Given the description of an element on the screen output the (x, y) to click on. 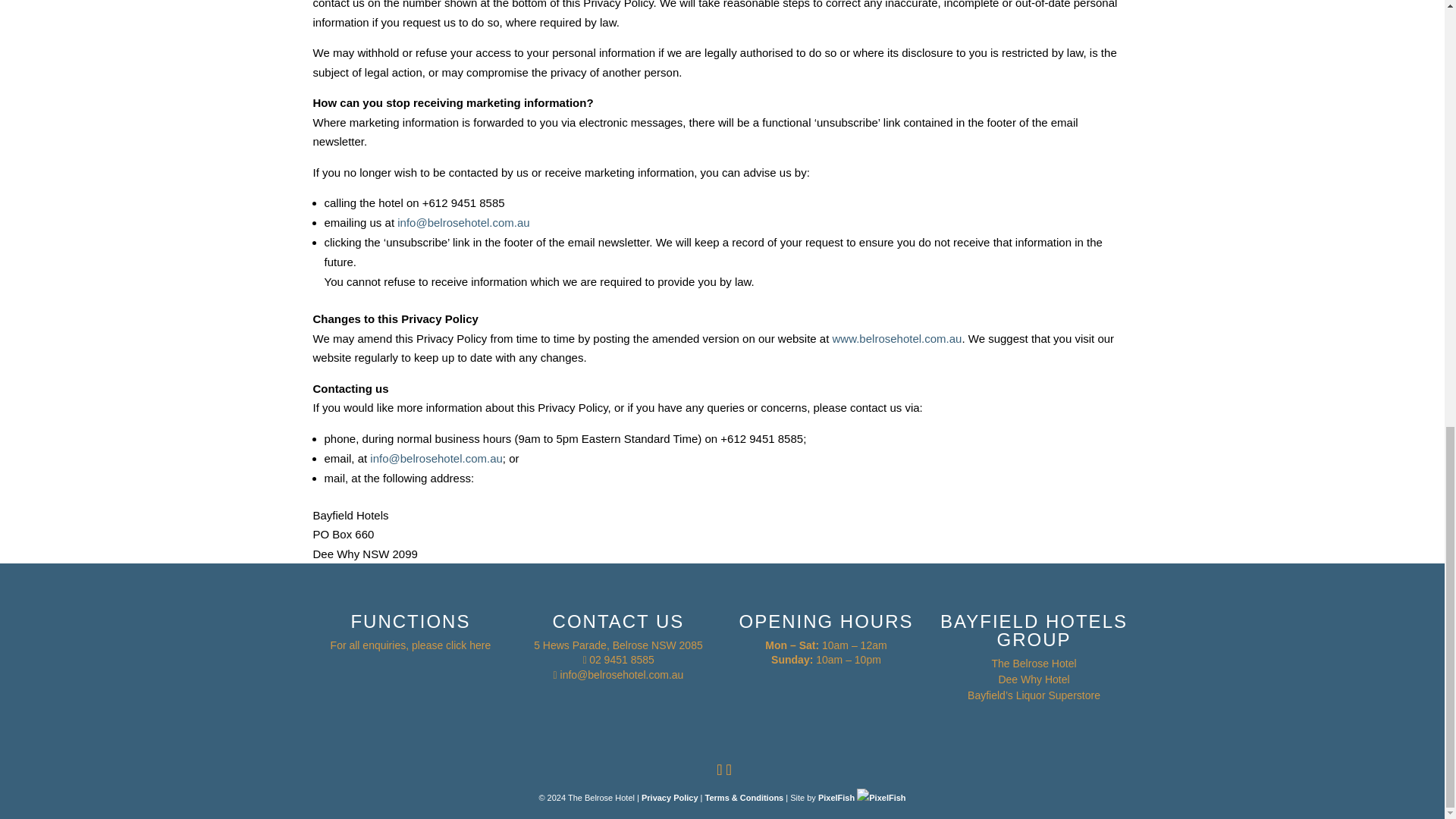
click here (467, 645)
The Belrose Hotel (1033, 663)
PixelFish (861, 797)
02 9451 8585 (621, 659)
5 Hews Parade, Belrose NSW 2085 (618, 645)
www.belrosehotel.com.au (897, 338)
Dee Why Hotel (1032, 679)
Privacy Policy (670, 797)
